Given the description of an element on the screen output the (x, y) to click on. 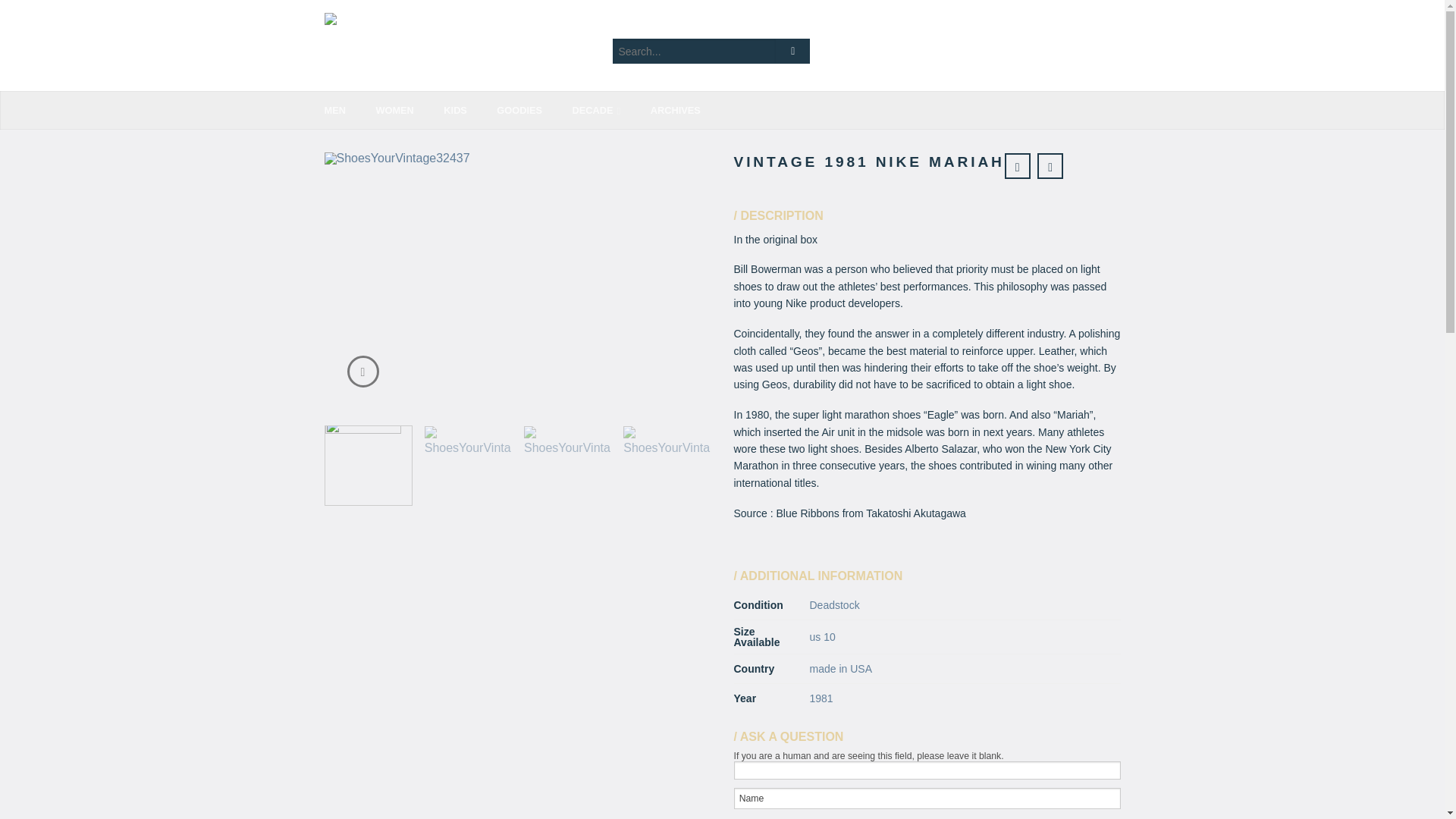
MEN (348, 110)
1981 (820, 698)
Deadstock (834, 604)
DECADE (609, 110)
WOMEN (407, 110)
KIDS (468, 110)
ARCHIVES (688, 110)
ShoesYourVintage32437 (517, 281)
made in USA (840, 668)
Zoom (362, 371)
